Given the description of an element on the screen output the (x, y) to click on. 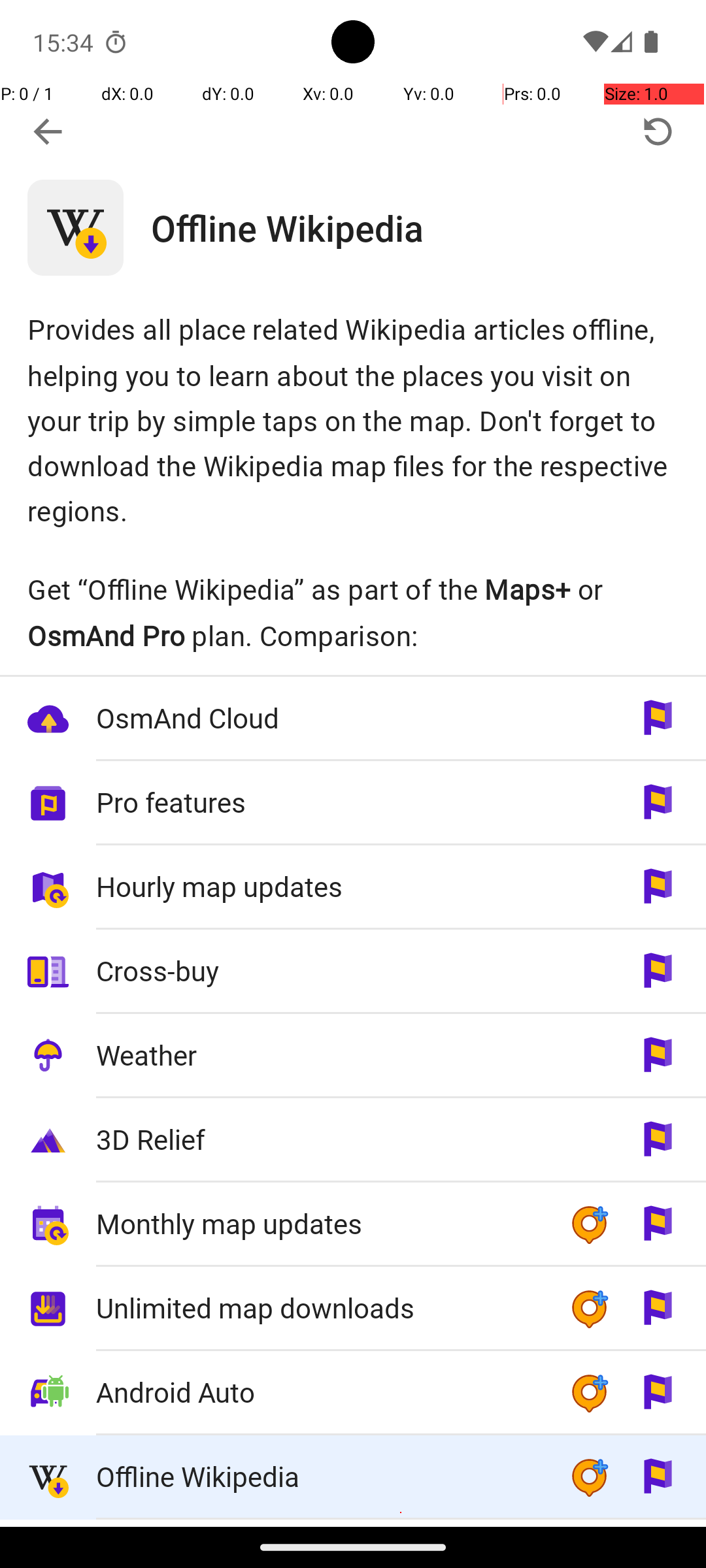
Offline Wikipedia Element type: android.widget.TextView (428, 227)
Restore purchases Element type: android.widget.ImageButton (657, 131)
Provides all place related Wikipedia articles offline, helping you to learn about the places you visit on your trip by simple taps on the map. Don't forget to download the Wikipedia map files for the respective regions. Element type: android.widget.TextView (353, 419)
Get “Offline Wikipedia” as part of the Maps+ or OsmAnd Pro plan. Comparison: Element type: android.widget.TextView (353, 611)
OsmAnd Cloud available as part of the OsmAnd Pro plan Element type: android.widget.LinearLayout (353, 718)
Pro features available as part of the OsmAnd Pro plan Element type: android.widget.LinearLayout (353, 803)
Hourly map updates available as part of the OsmAnd Pro plan Element type: android.widget.LinearLayout (353, 887)
Cross-buy available as part of the OsmAnd Pro plan Element type: android.widget.LinearLayout (353, 971)
Weather available as part of the OsmAnd Pro plan Element type: android.widget.LinearLayout (353, 1055)
3D Relief available as part of the OsmAnd Pro plan Element type: android.widget.LinearLayout (353, 1140)
Monthly map updates available as part of the OsmAnd+ or OsmAnd Pro plan Element type: android.widget.LinearLayout (353, 1224)
Unlimited map downloads available as part of the OsmAnd+ or OsmAnd Pro plan Element type: android.widget.LinearLayout (353, 1308)
Android Auto available as part of the OsmAnd+ or OsmAnd Pro plan Element type: android.widget.LinearLayout (353, 1393)
Offline Wikipedia available as part of the OsmAnd+ or OsmAnd Pro plan Element type: android.widget.LinearLayout (353, 1477)
Offline Wikivoyage available as part of the OsmAnd+ or OsmAnd Pro plan Element type: android.widget.LinearLayout (353, 1522)
OsmAnd Cloud Element type: android.widget.TextView (318, 717)
Pro features Element type: android.widget.TextView (318, 801)
Hourly map updates Element type: android.widget.TextView (318, 885)
Cross-buy Element type: android.widget.TextView (318, 970)
Weather Element type: android.widget.TextView (318, 1054)
3D Relief Element type: android.widget.TextView (318, 1138)
Monthly map updates Element type: android.widget.TextView (318, 1222)
Unlimited map downloads Element type: android.widget.TextView (318, 1307)
Offline Wikivoyage Element type: android.widget.TextView (318, 1523)
